Given the description of an element on the screen output the (x, y) to click on. 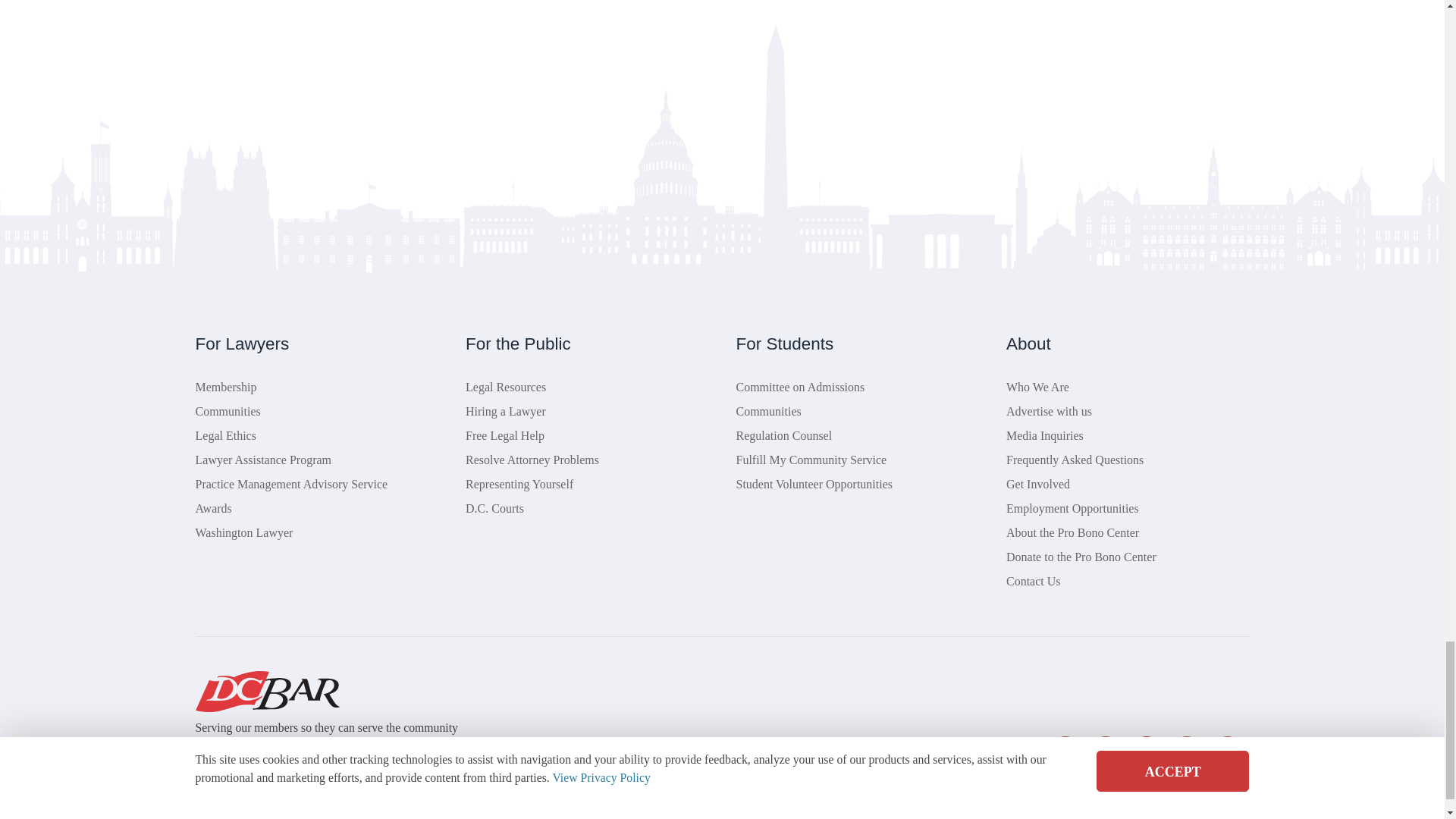
DC Bar YouTube (1187, 751)
DC Bar Facebook (1105, 751)
DC Bar LinkedIn (1146, 751)
DC Bar Twitter (1064, 751)
DC Bar Instagram (1226, 751)
